Given the description of an element on the screen output the (x, y) to click on. 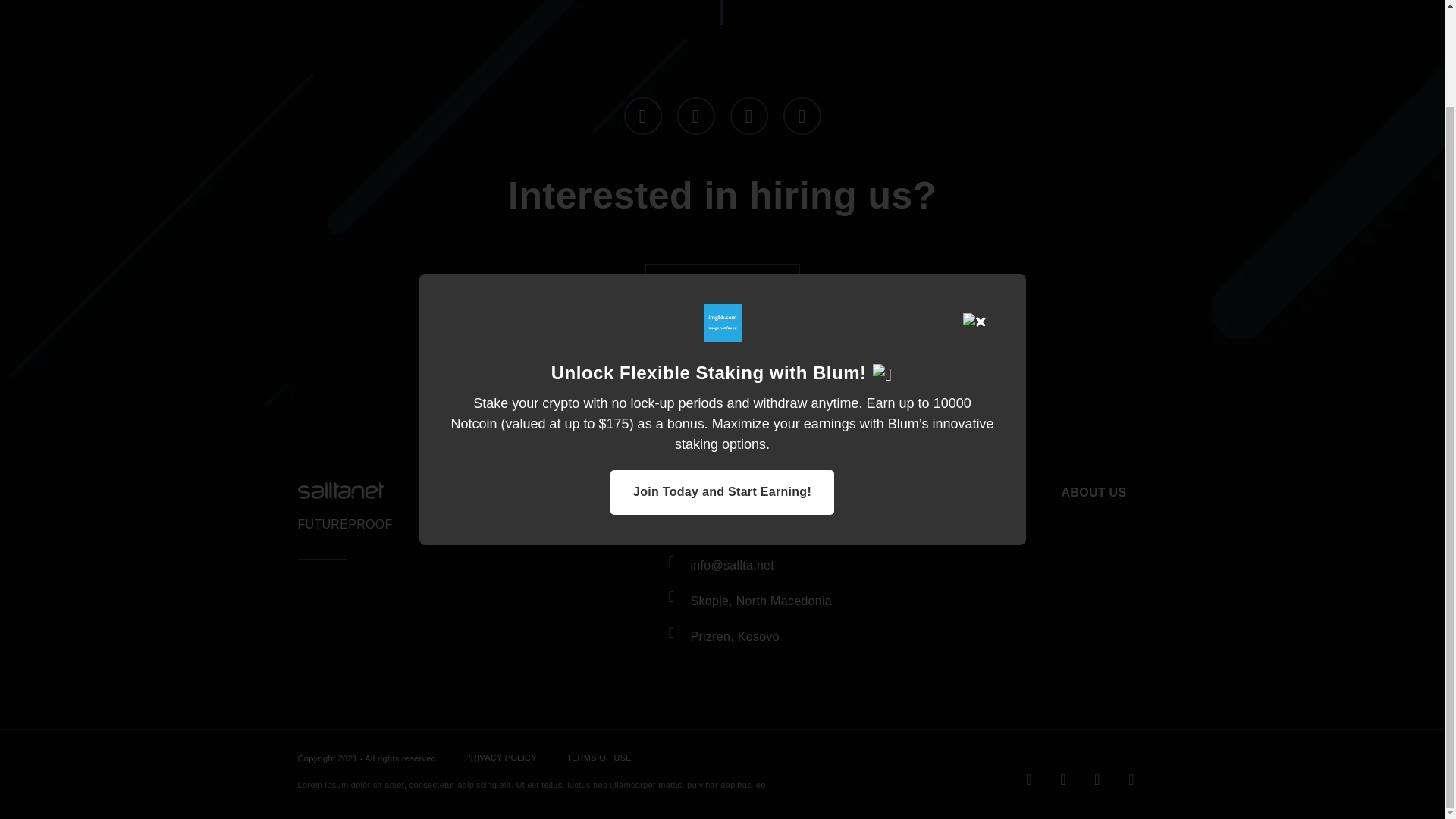
TERMS OF USE (598, 758)
MAKE INQUIRY (722, 313)
PRIVACY POLICY (500, 758)
Join Today and Start Earning! (722, 380)
